Given the description of an element on the screen output the (x, y) to click on. 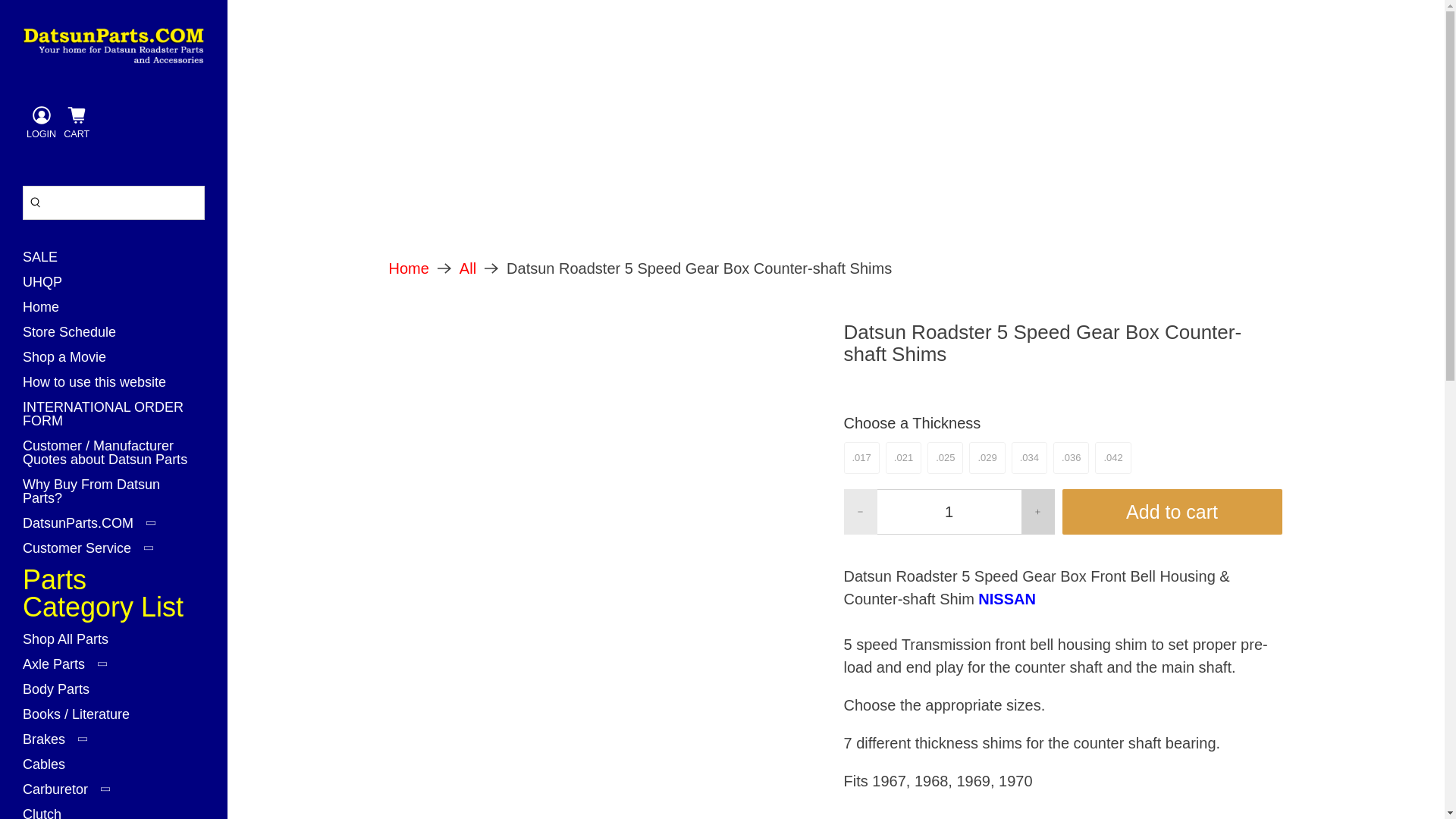
Parts Category List (114, 599)
INTERNATIONAL ORDER FORM (114, 419)
Home (46, 312)
DatsunParts.COM (95, 528)
Axle Parts (71, 669)
How to use this website (100, 387)
Why Buy From Datsun Parts? (114, 496)
Shop a Movie (70, 362)
Datsun Parts (408, 268)
SALE (45, 262)
Datsun Parts (114, 45)
Store Schedule (75, 337)
Shop All Parts (71, 644)
Customer Service (94, 553)
1 (948, 511)
